Given the description of an element on the screen output the (x, y) to click on. 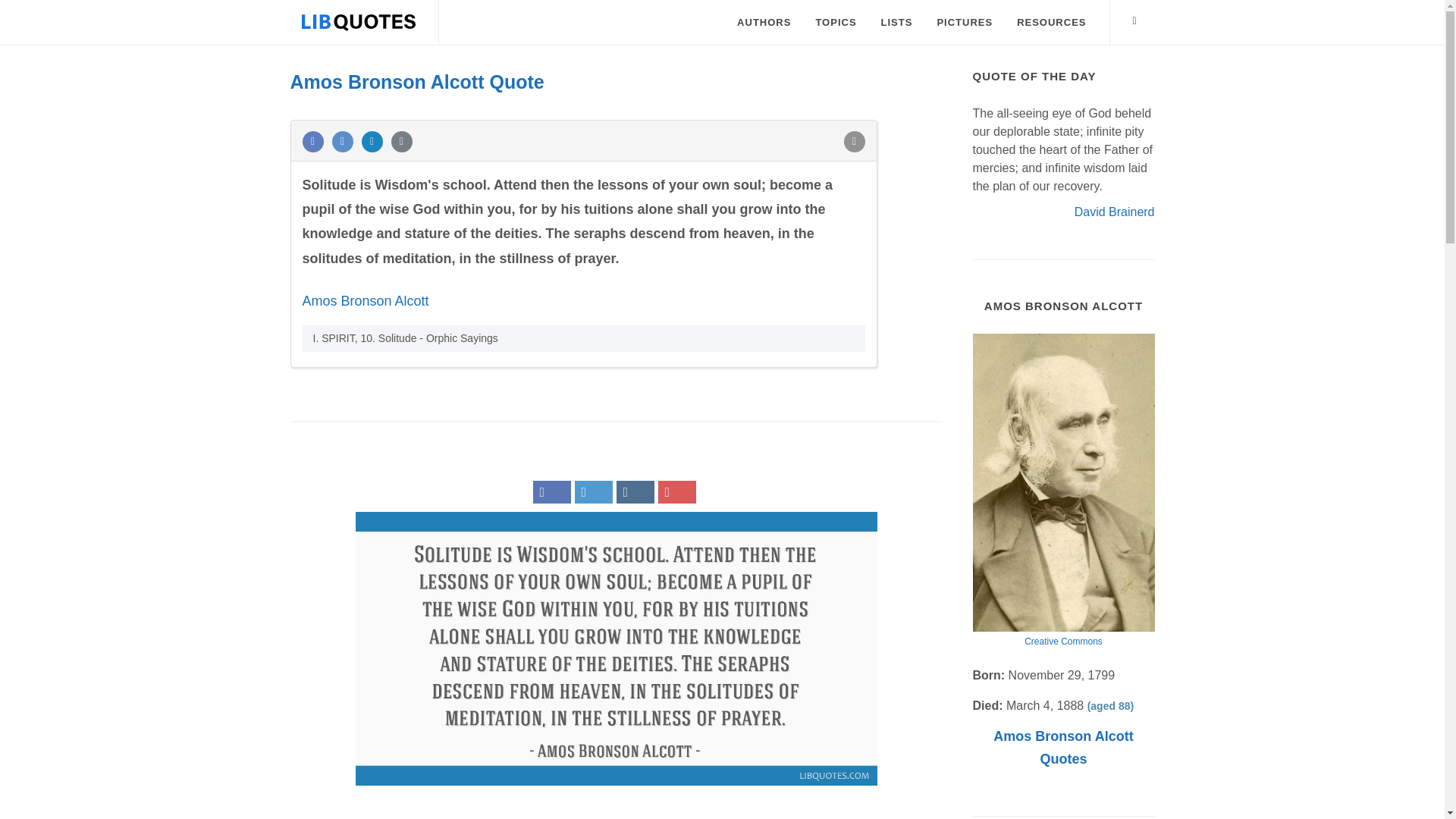
Amos Bronson Alcott Quotes (1062, 747)
TOPICS (835, 22)
PICTURES (964, 22)
Creative Commons (1063, 641)
AUTHORS (763, 22)
RESOURCES (1051, 22)
Amos Bronson Alcott (364, 300)
David Brainerd (1114, 210)
LISTS (896, 22)
